Given the description of an element on the screen output the (x, y) to click on. 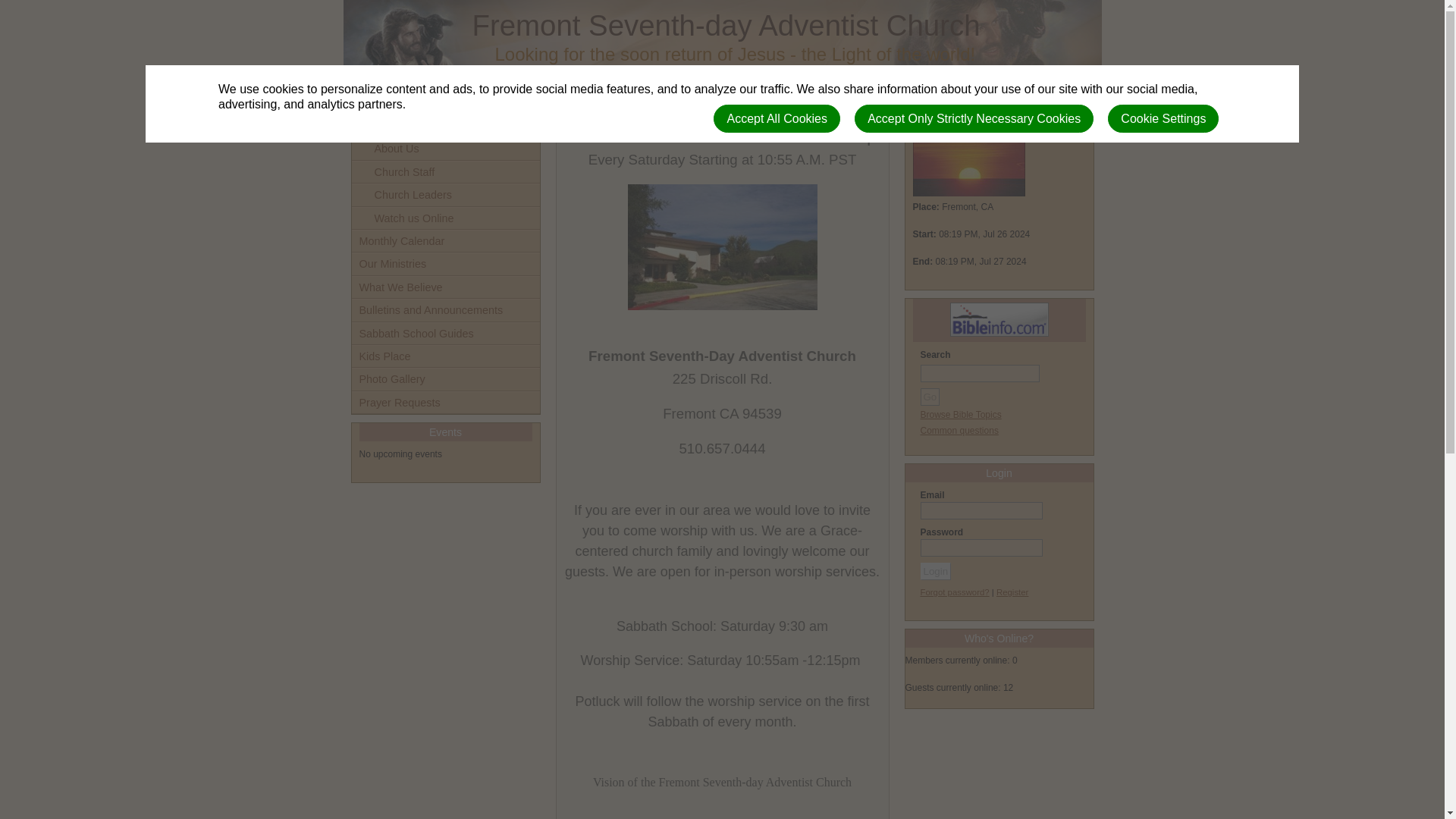
Sabbath School Guides (446, 333)
About Us (446, 148)
Church Leaders (446, 194)
Home (446, 125)
Kids Place (446, 355)
Watch us Online (446, 218)
Church Staff (446, 171)
What We Believe (446, 287)
Prayer Requests (446, 402)
Photo Gallery (446, 378)
Bulletins and Announcements (446, 309)
Our Ministries (446, 263)
Monthly Calendar (446, 241)
